Given the description of an element on the screen output the (x, y) to click on. 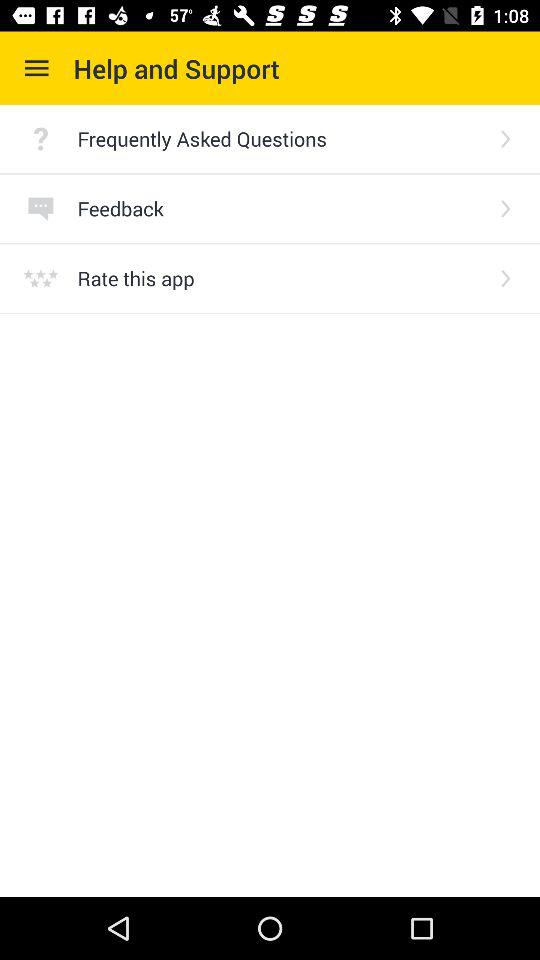
select icon next to help and support (36, 68)
